Given the description of an element on the screen output the (x, y) to click on. 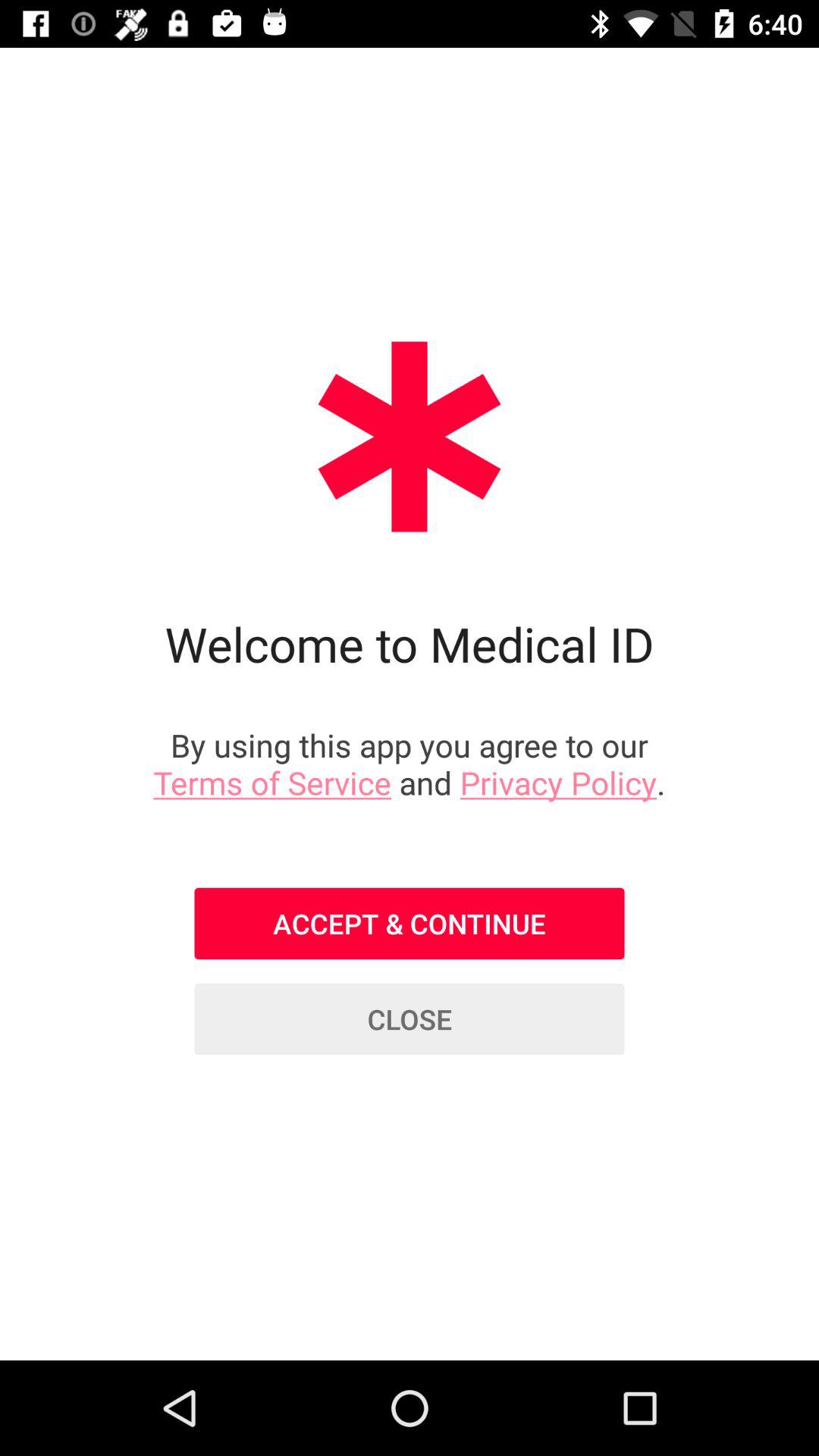
scroll to by using this item (409, 763)
